Given the description of an element on the screen output the (x, y) to click on. 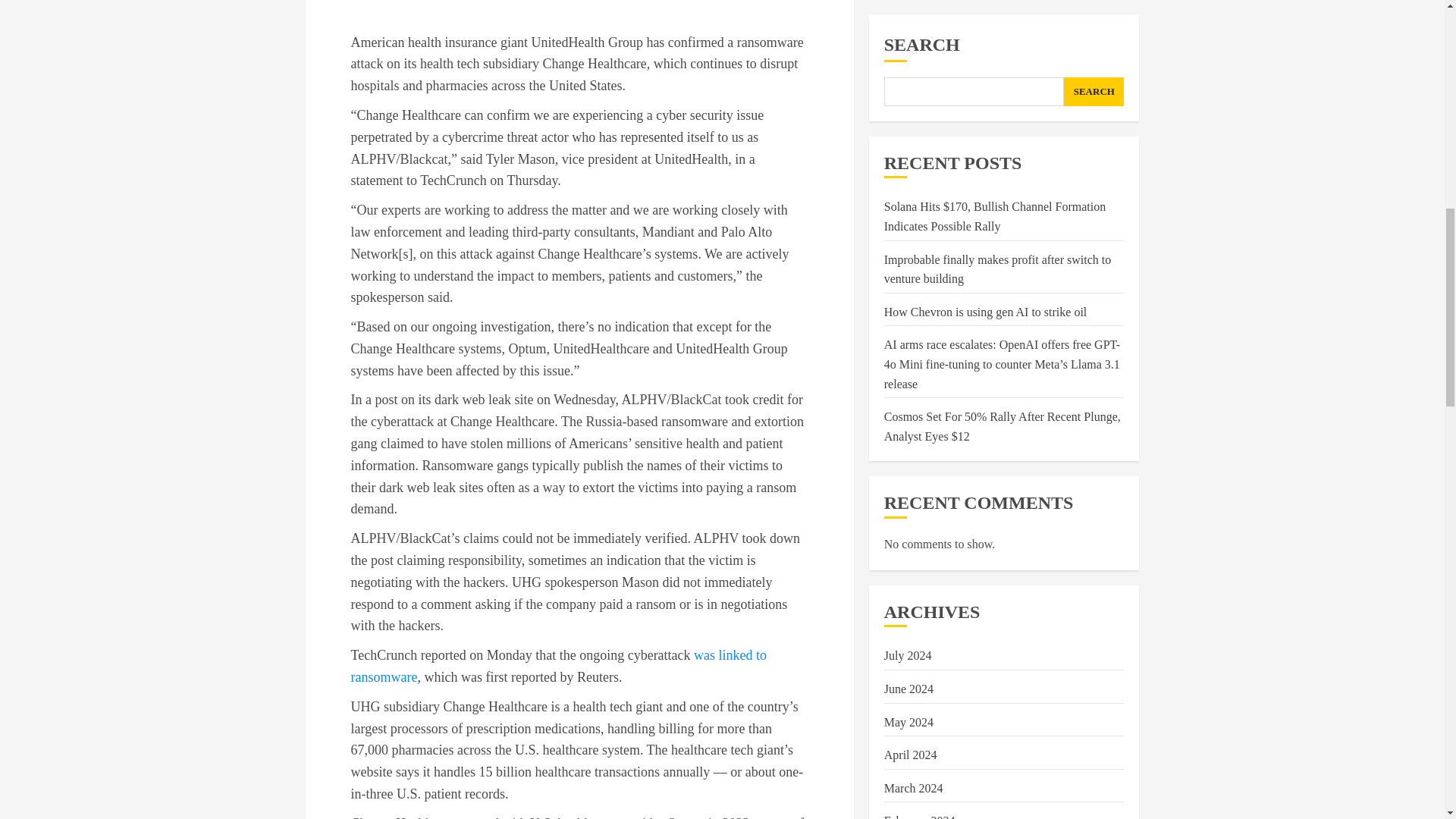
was linked to ransomware (558, 665)
